Given the description of an element on the screen output the (x, y) to click on. 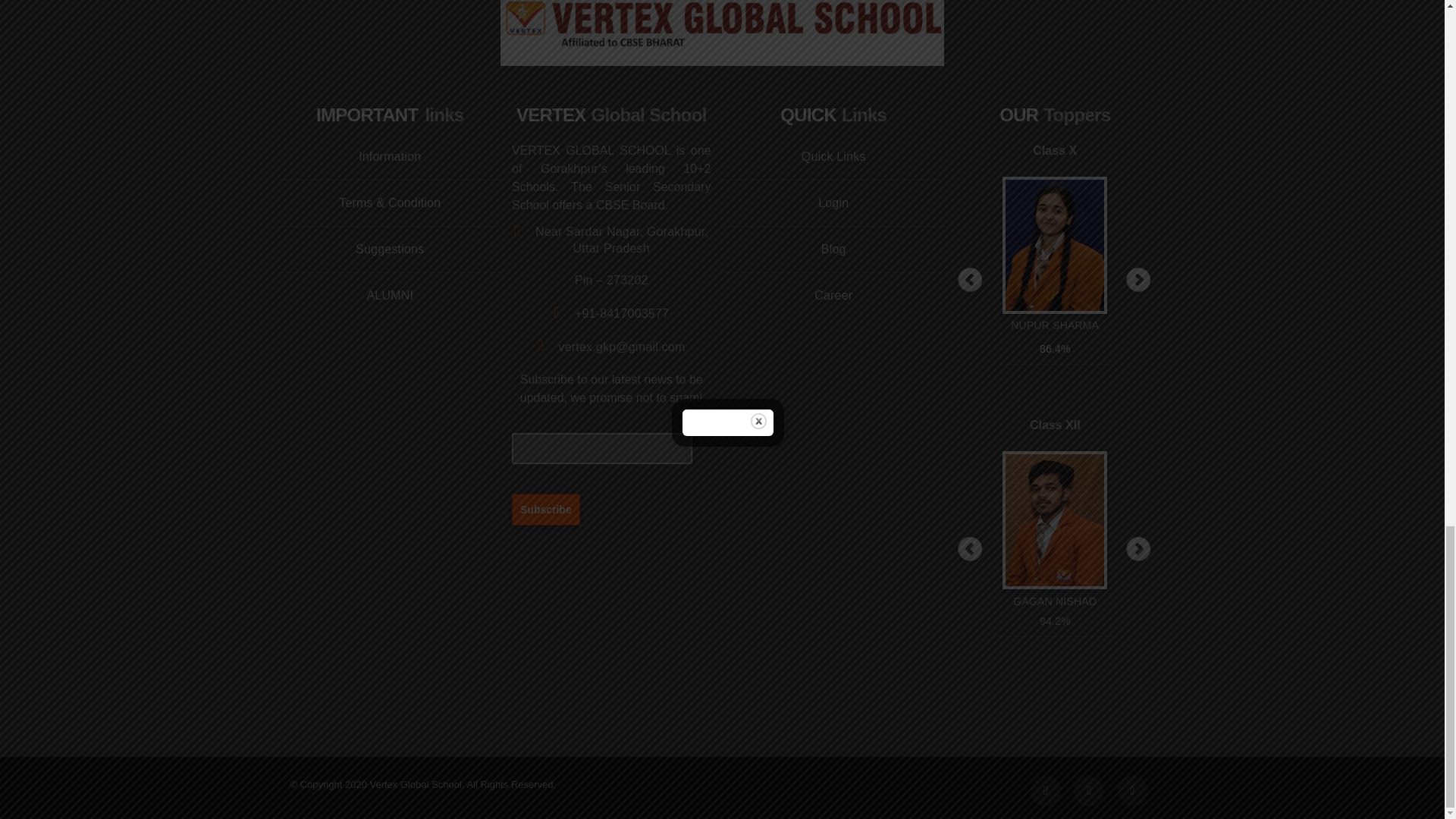
Subscribe (545, 508)
